Given the description of an element on the screen output the (x, y) to click on. 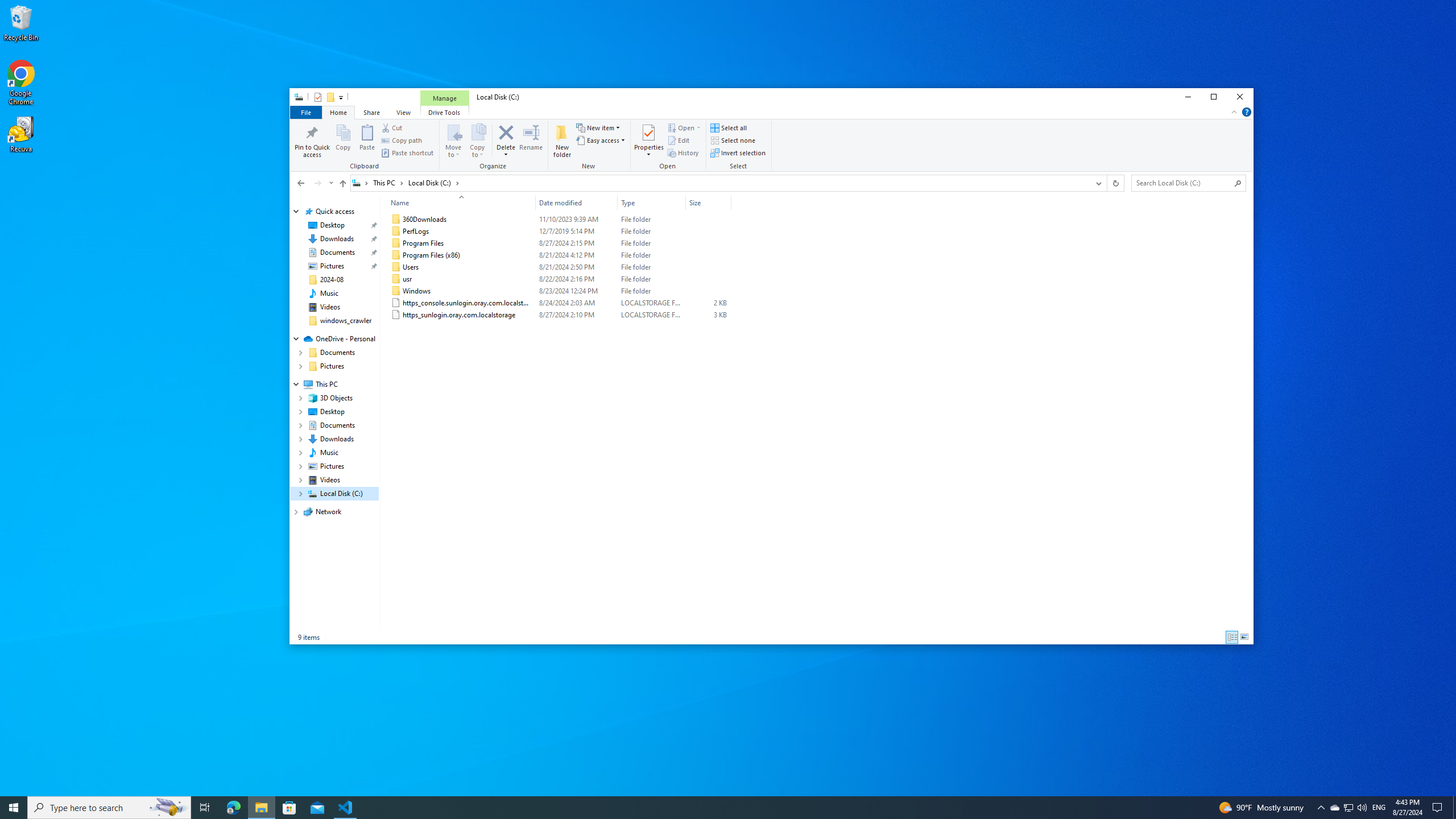
Type (651, 314)
Select none (733, 140)
Filter dropdown (726, 202)
Details (1231, 636)
Address: C:\ (719, 182)
Copy (343, 140)
Pictures (pinned) (1347, 807)
System (1333, 807)
Maximize (331, 265)
Delete (295, 98)
Organize (1214, 96)
System (505, 150)
